Given the description of an element on the screen output the (x, y) to click on. 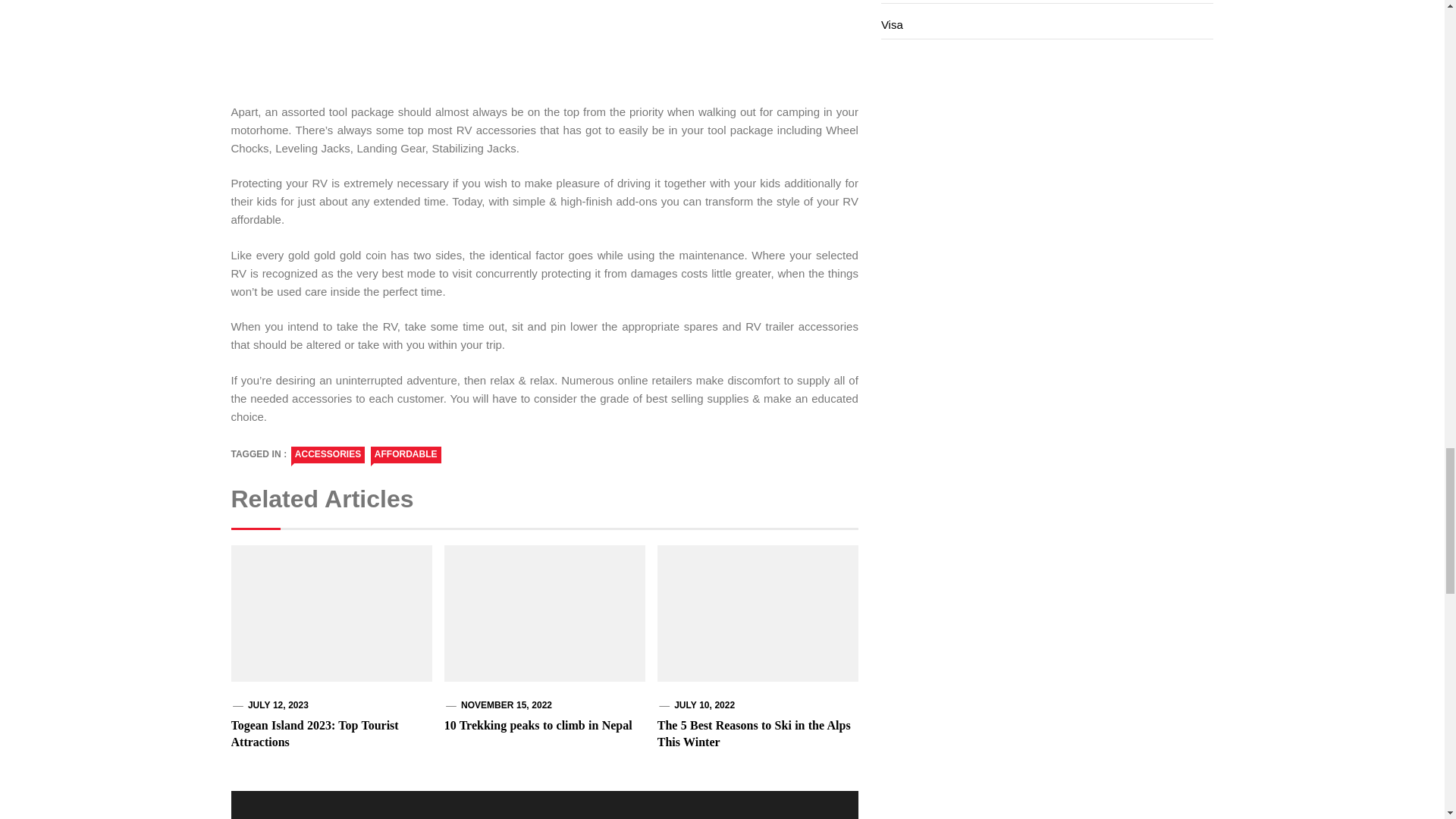
ACCESSORIES (328, 454)
The 5 Best Reasons to Ski in the Alps This Winter (754, 733)
AFFORDABLE (406, 454)
JULY 12, 2023 (277, 705)
10 Trekking peaks to climb in Nepal (537, 725)
JULY 10, 2022 (704, 705)
Togean Island 2023: Top Tourist Attractions (313, 733)
NOVEMBER 15, 2022 (506, 705)
